Given the description of an element on the screen output the (x, y) to click on. 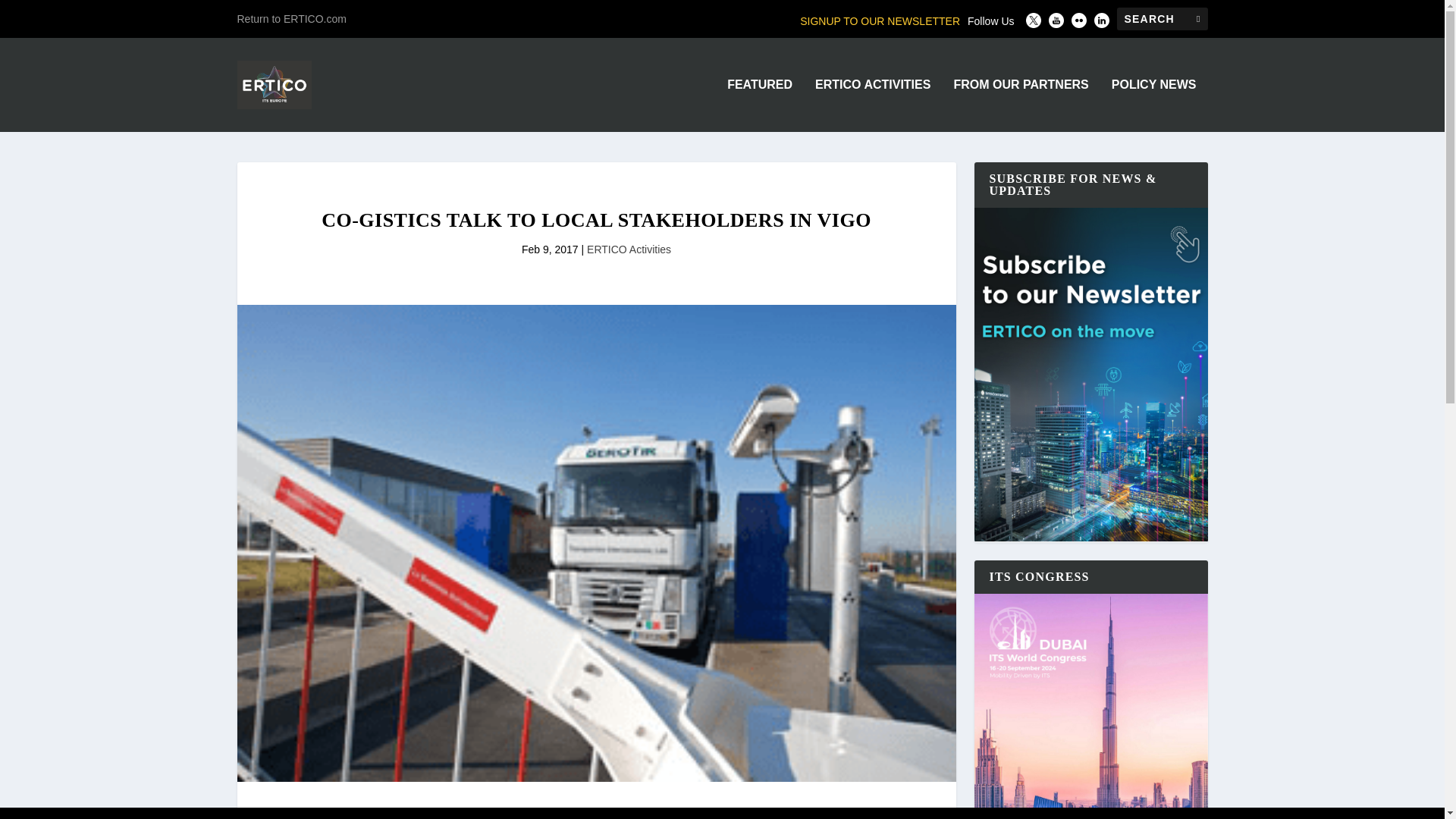
FROM OUR PARTNERS (1020, 104)
SIGNUP TO OUR NEWSLETTER (879, 21)
Search for: (1161, 18)
Return to ERTICO.com (290, 18)
ERTICO Activities (628, 249)
POLICY NEWS (1154, 104)
ERTICO ACTIVITIES (872, 104)
FEATURED (759, 104)
